Given the description of an element on the screen output the (x, y) to click on. 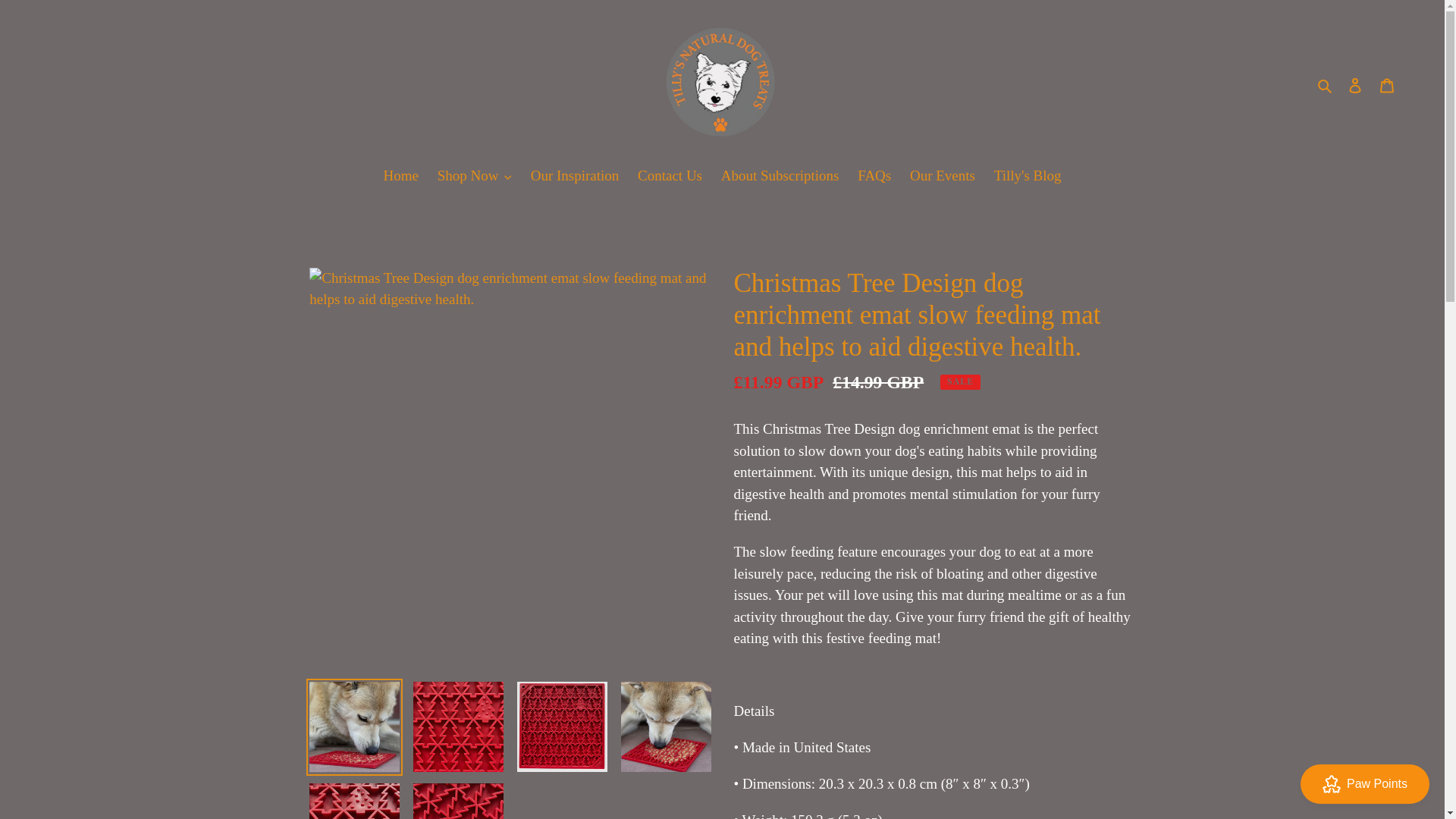
Search (1326, 84)
